Given the description of an element on the screen output the (x, y) to click on. 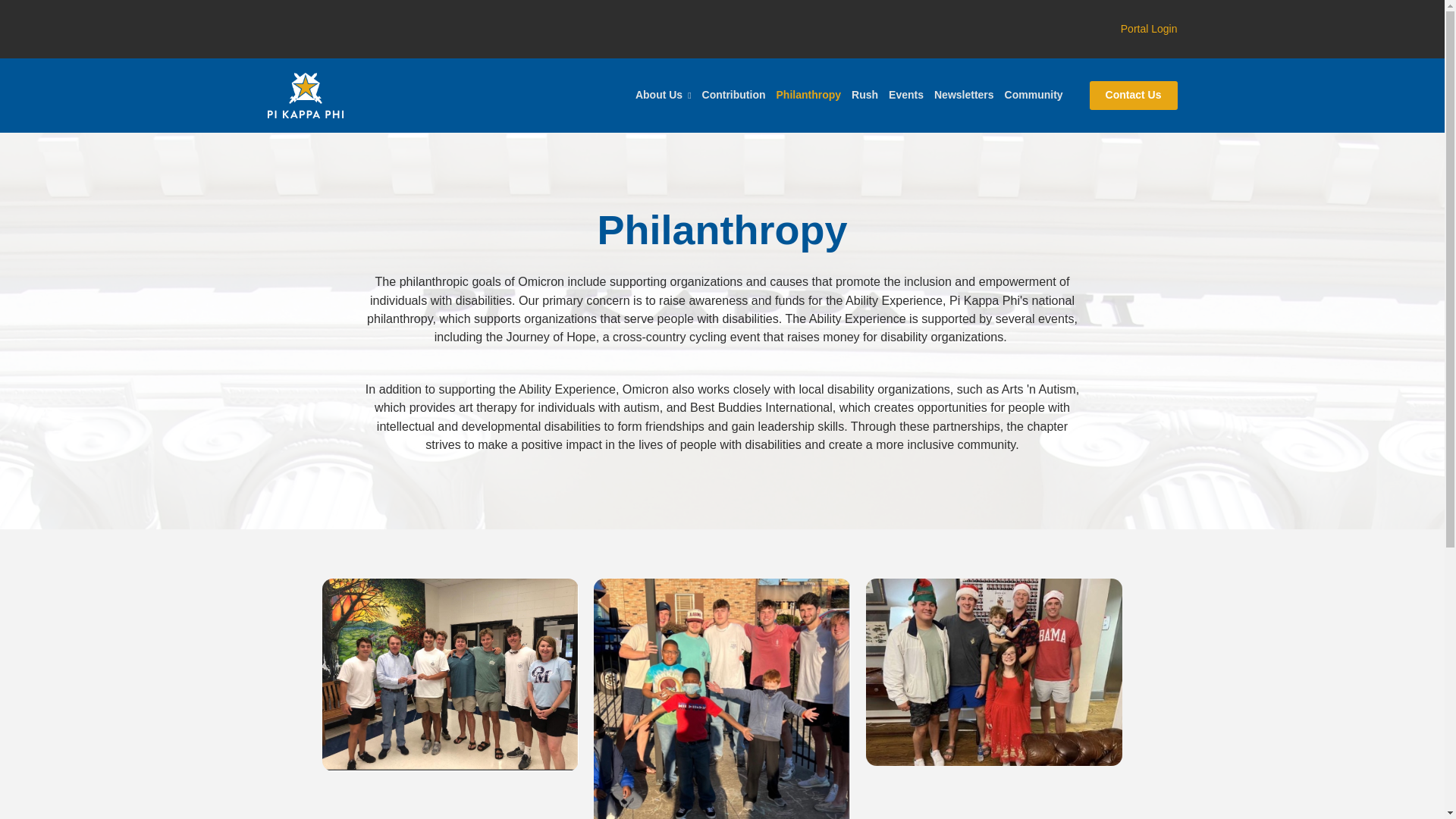
Rush (864, 94)
Newsletters (963, 94)
Contribution (734, 94)
About Us (663, 94)
Events (905, 94)
Philanthropy (809, 94)
Contact Us (1133, 95)
Community (1033, 94)
Portal Login (1149, 28)
